Given the description of an element on the screen output the (x, y) to click on. 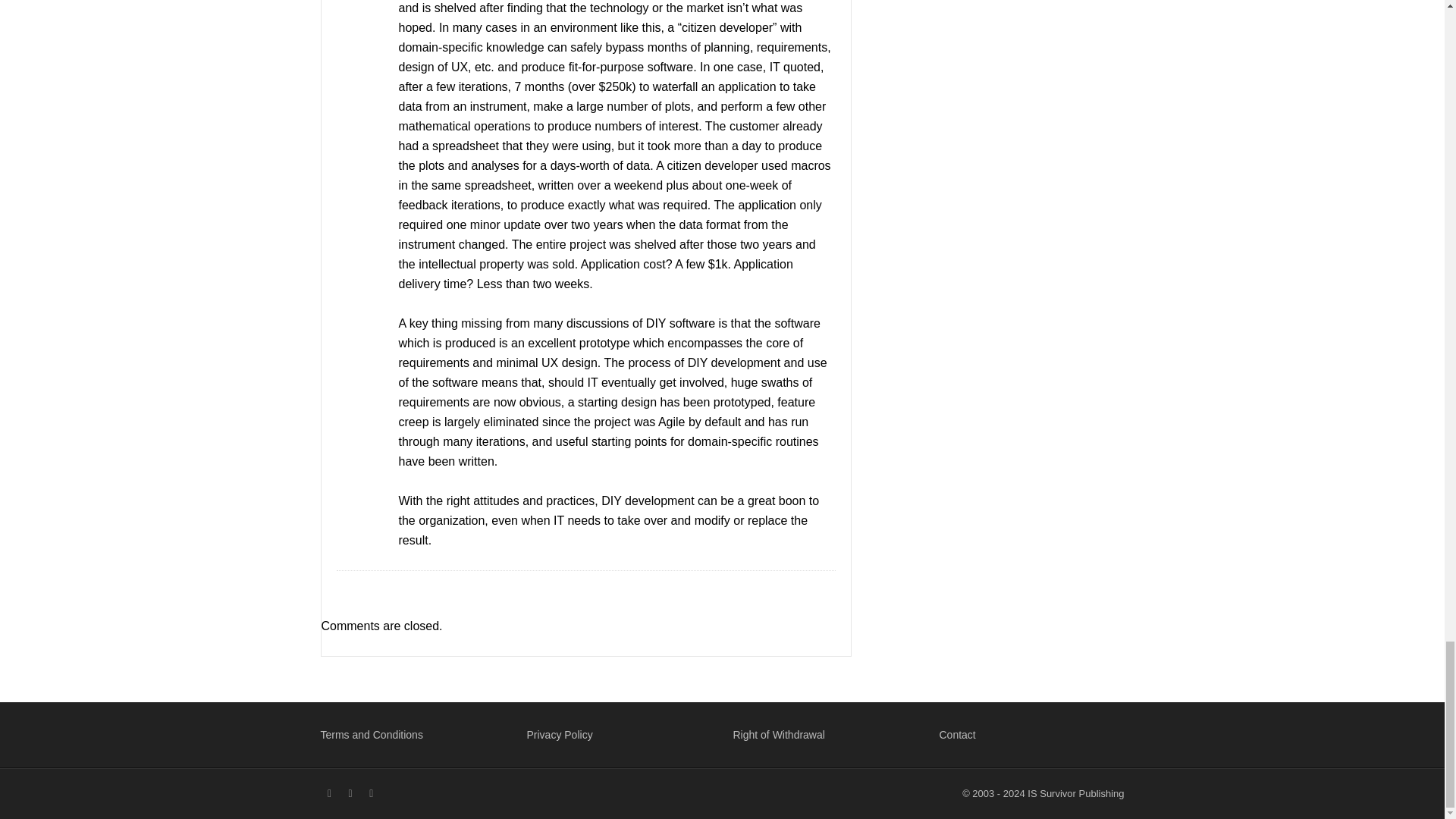
Privacy Policy (558, 734)
Terms and Conditions (371, 734)
